Given the description of an element on the screen output the (x, y) to click on. 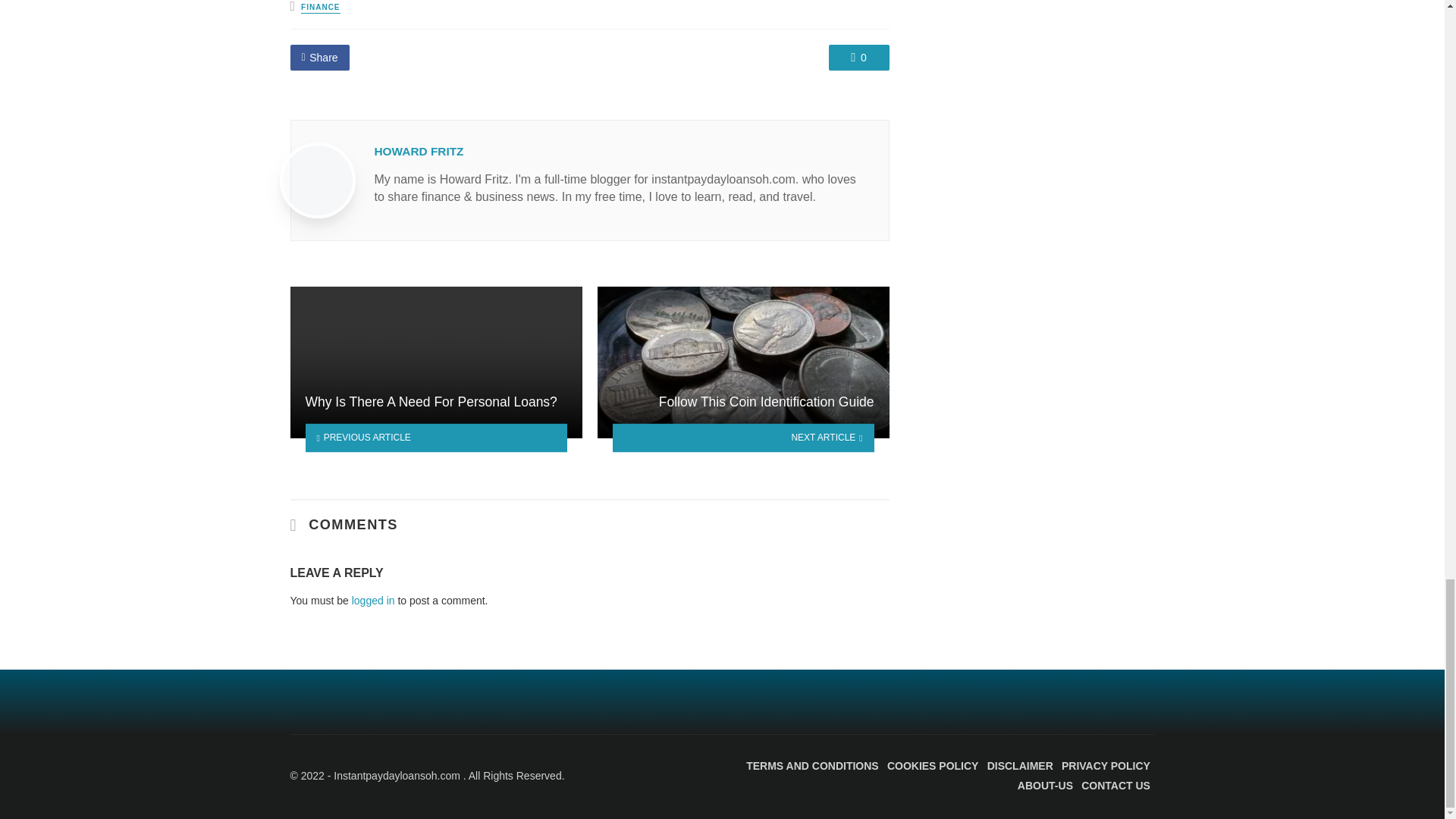
HOWARD FRITZ (419, 151)
Posts by Howard Fritz (419, 151)
FINANCE (320, 7)
Share on Facebook (319, 57)
Share (319, 57)
PREVIOUS ARTICLE (434, 438)
0 (858, 57)
NEXT ARTICLE (742, 438)
logged in (373, 600)
0 Comments (858, 57)
